Given the description of an element on the screen output the (x, y) to click on. 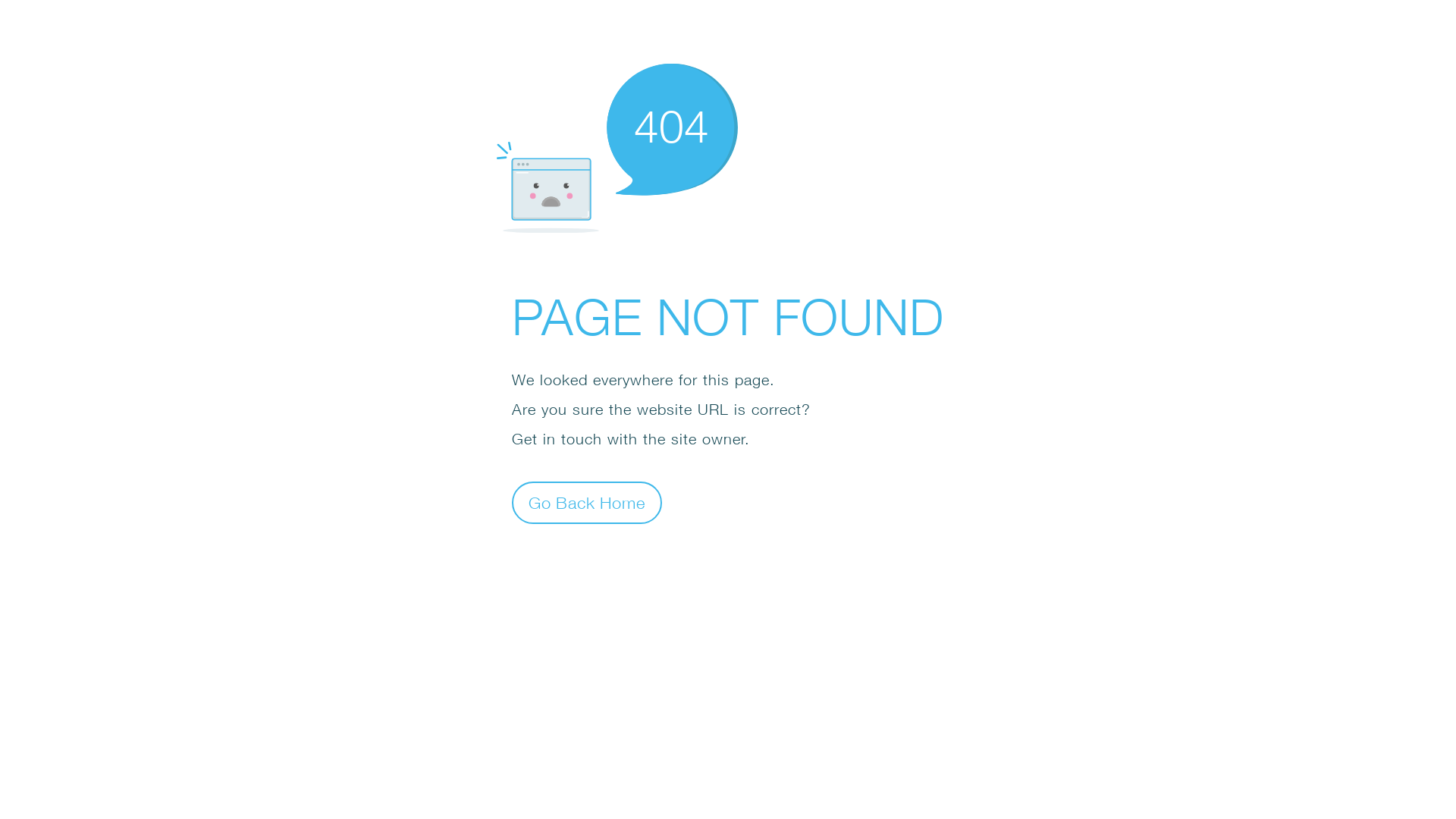
Go Back Home Element type: text (586, 502)
